Given the description of an element on the screen output the (x, y) to click on. 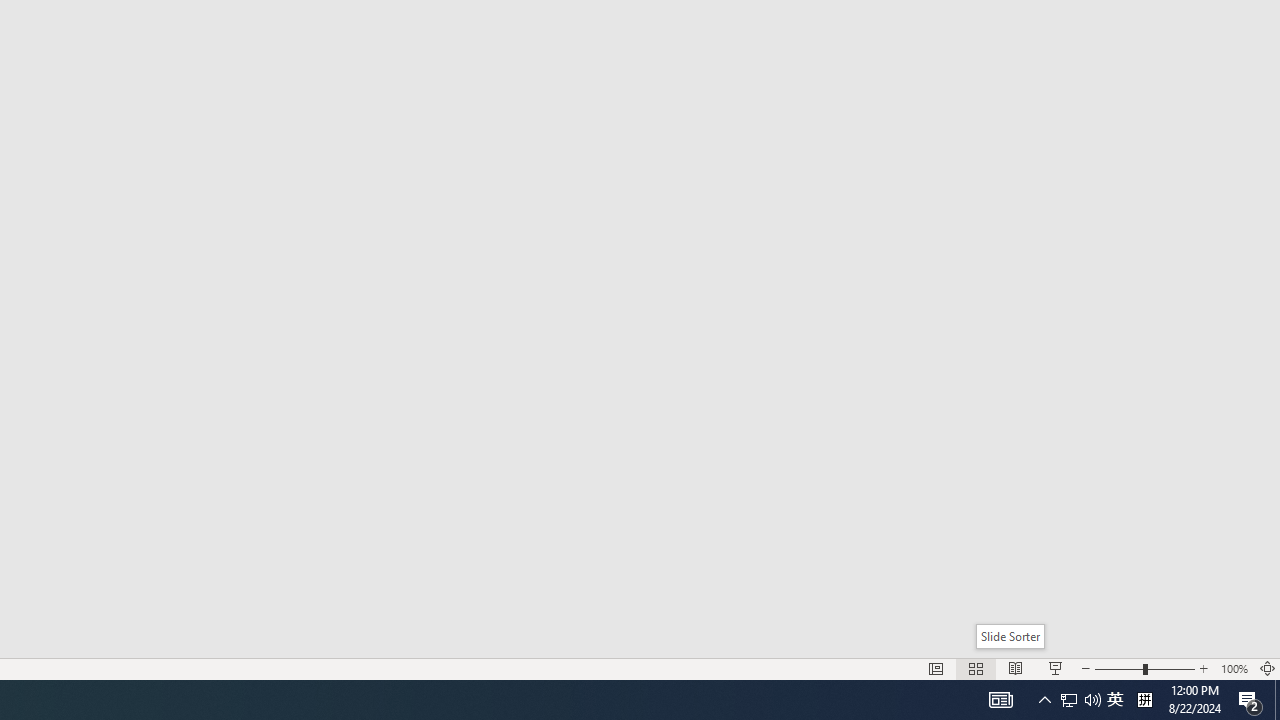
Zoom 100% (1234, 668)
